Given the description of an element on the screen output the (x, y) to click on. 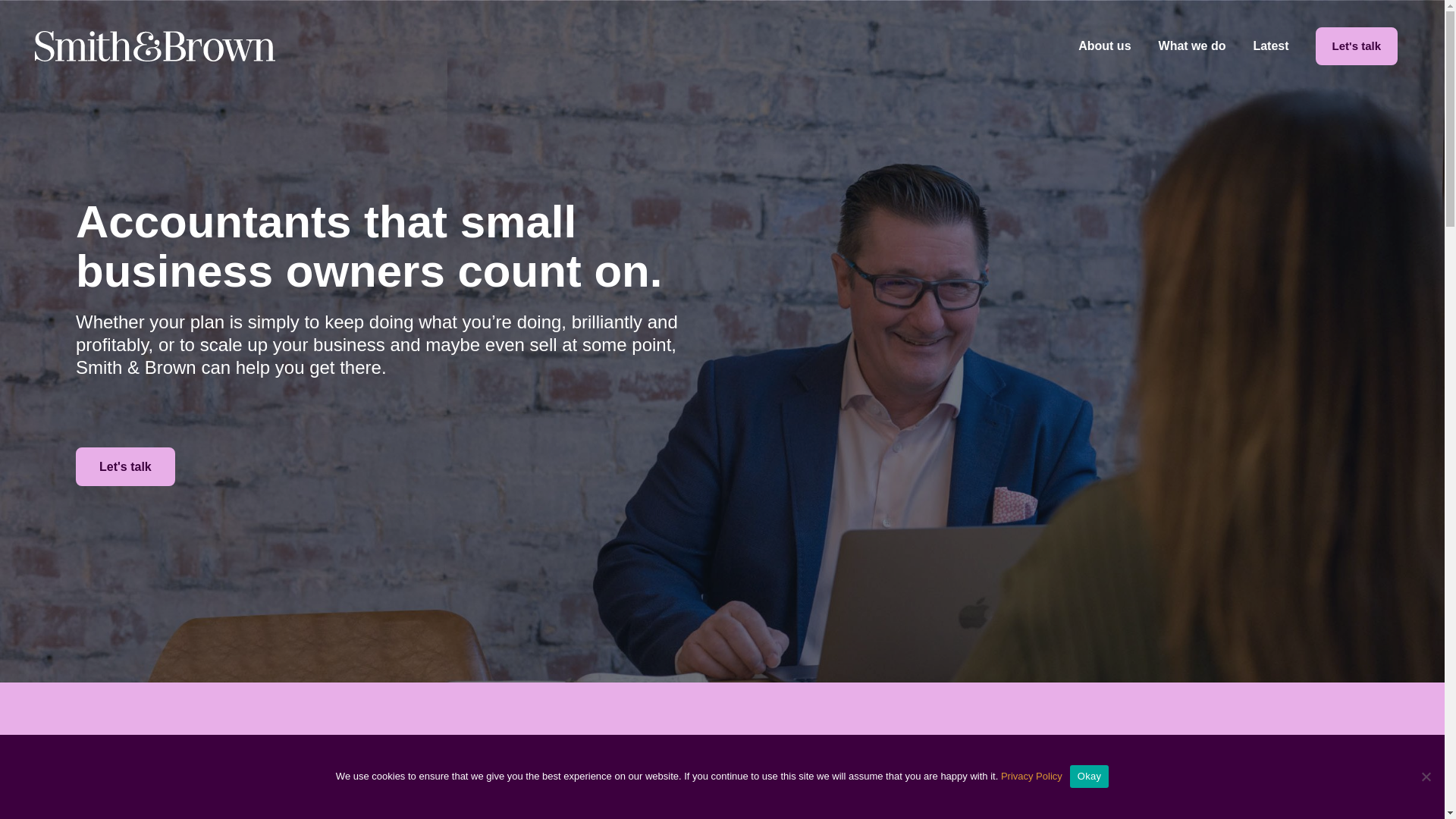
0161 960 0845 (145, 534)
About us (909, 489)
Latest (909, 529)
Let's talk (124, 466)
Let's talk (1356, 46)
Privacy Policy (1031, 776)
What we do (909, 509)
What we do (1192, 46)
No (1425, 776)
Privacy policy (909, 570)
Okay (1089, 775)
